Given the description of an element on the screen output the (x, y) to click on. 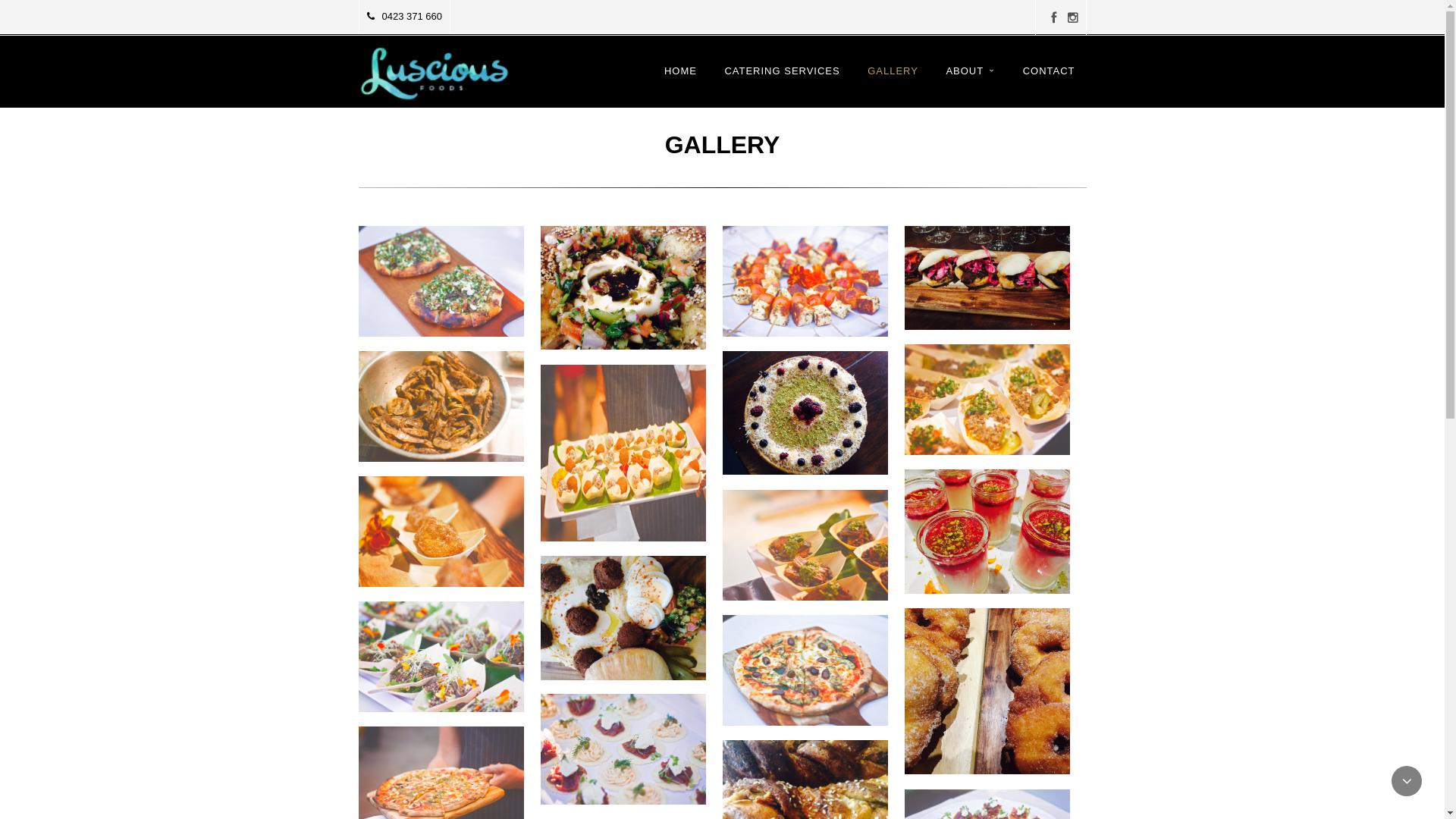
ABOUT Element type: text (970, 81)
GALLERY Element type: text (892, 81)
HOME Element type: text (680, 81)
CONTACT Element type: text (1048, 81)
Instagram Element type: hover (1072, 17)
0423 371 660 Element type: text (404, 15)
CATERING SERVICES Element type: text (781, 81)
